Given the description of an element on the screen output the (x, y) to click on. 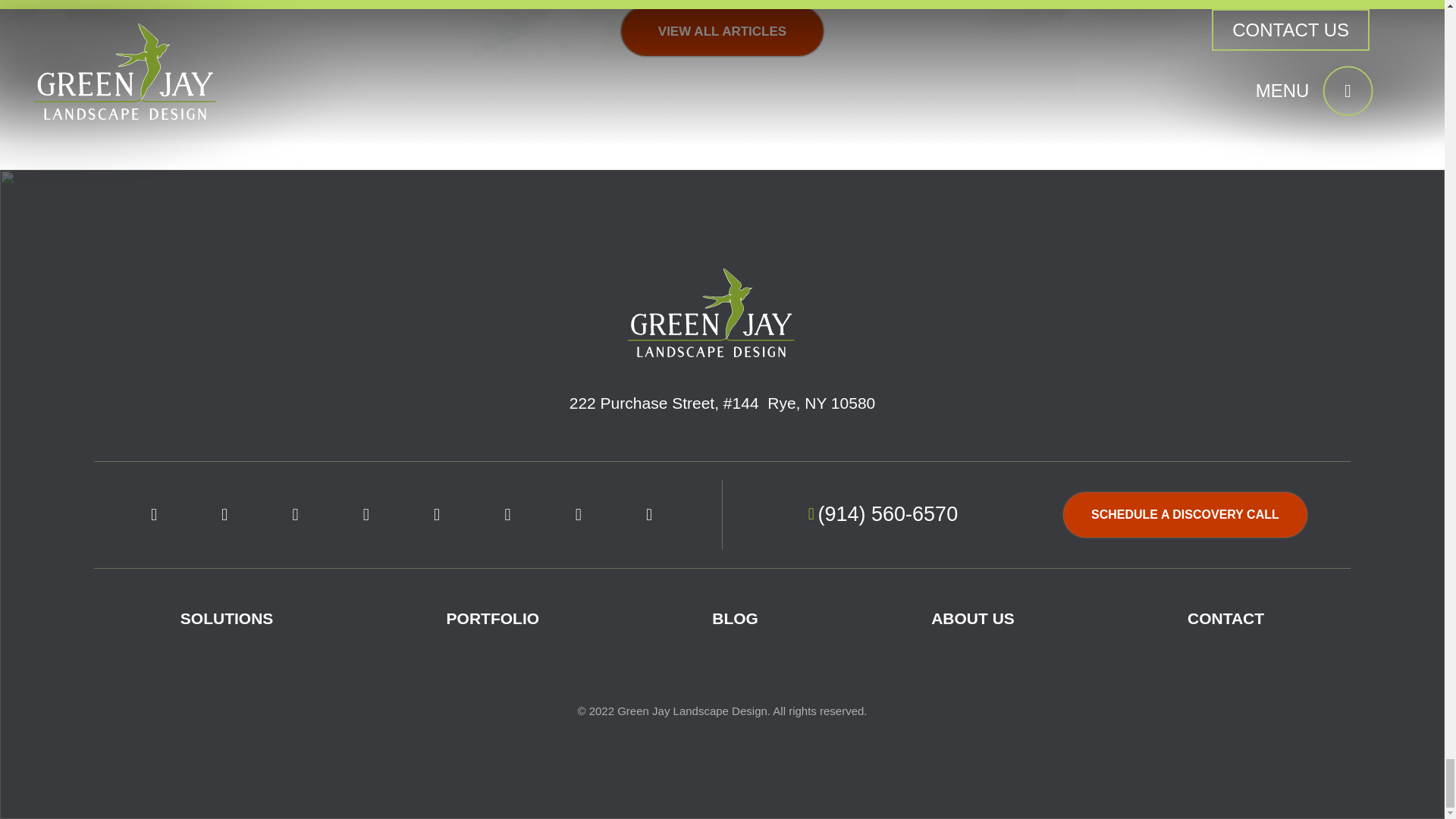
Instagram (224, 514)
YouTube (296, 514)
Facebook (153, 514)
